Given the description of an element on the screen output the (x, y) to click on. 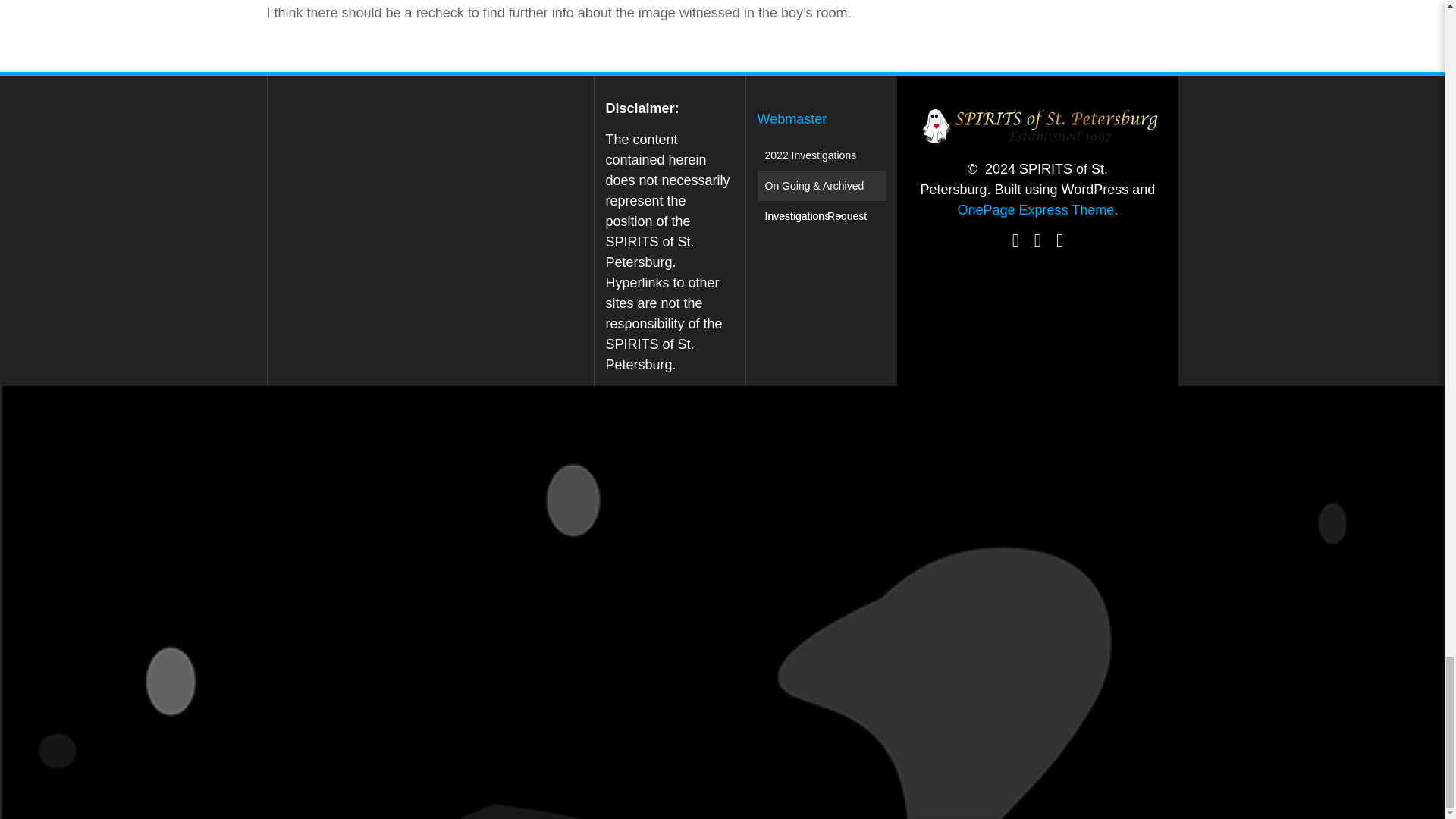
Webmaster (792, 118)
2022 Investigations (810, 155)
OnePage Express Theme (1034, 209)
Investigation Request (816, 215)
